Given the description of an element on the screen output the (x, y) to click on. 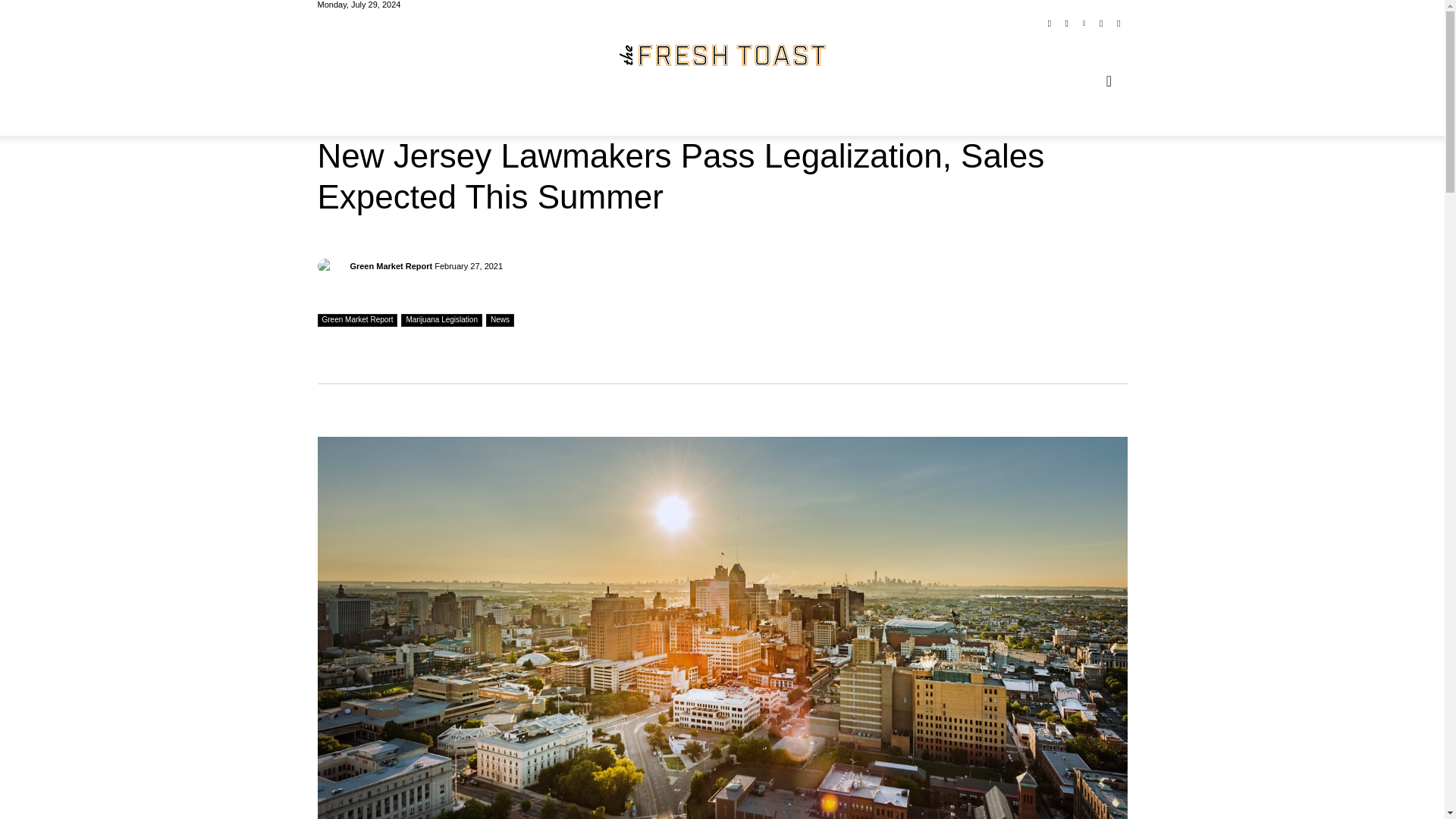
Instagram (1066, 23)
Facebook (1049, 23)
Youtube (1117, 23)
Twitter (1101, 23)
The Fresh Toast (721, 55)
The Fresh Toast (721, 55)
Linkedin (1084, 23)
